Given the description of an element on the screen output the (x, y) to click on. 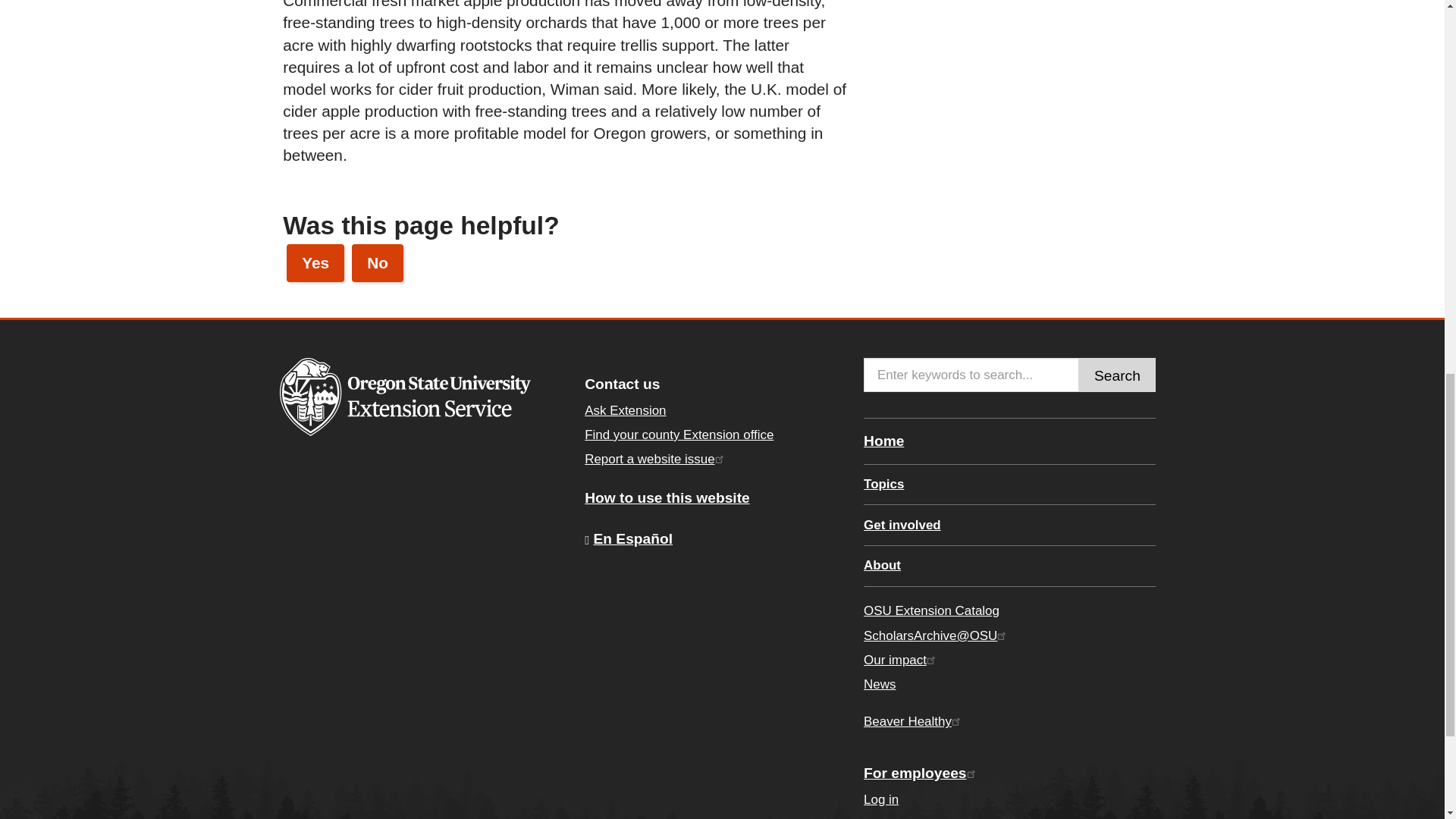
Enter keywords to search (970, 374)
